Given the description of an element on the screen output the (x, y) to click on. 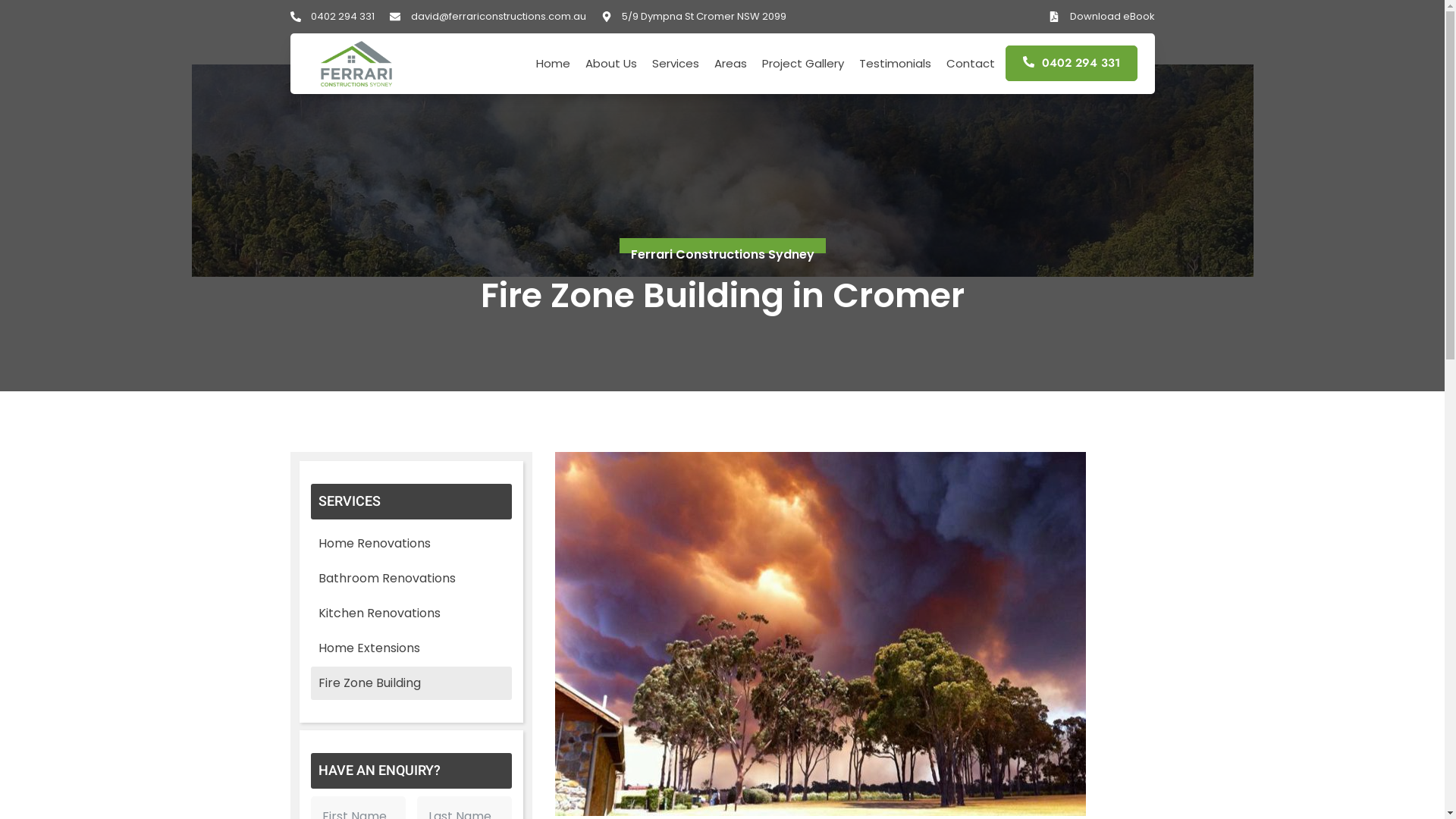
Testimonials Element type: text (895, 63)
Contact Element type: text (970, 63)
Project Gallery Element type: text (803, 63)
0402 294 331 Element type: text (331, 16)
david@ferrariconstructions.com.au Element type: text (487, 16)
0402 294 331 Element type: text (1071, 63)
Bathroom Renovations Element type: text (410, 578)
Fire Zone Building 1 Element type: hover (820, 633)
Home Renovations Element type: text (410, 543)
Kitchen Renovations Element type: text (410, 613)
Fire Zone Building Element type: text (410, 682)
Services Element type: text (675, 63)
Home Extensions Element type: text (410, 648)
Areas Element type: text (730, 63)
Download eBook Element type: text (1101, 16)
Home Element type: text (553, 63)
About Us Element type: text (611, 63)
